Given the description of an element on the screen output the (x, y) to click on. 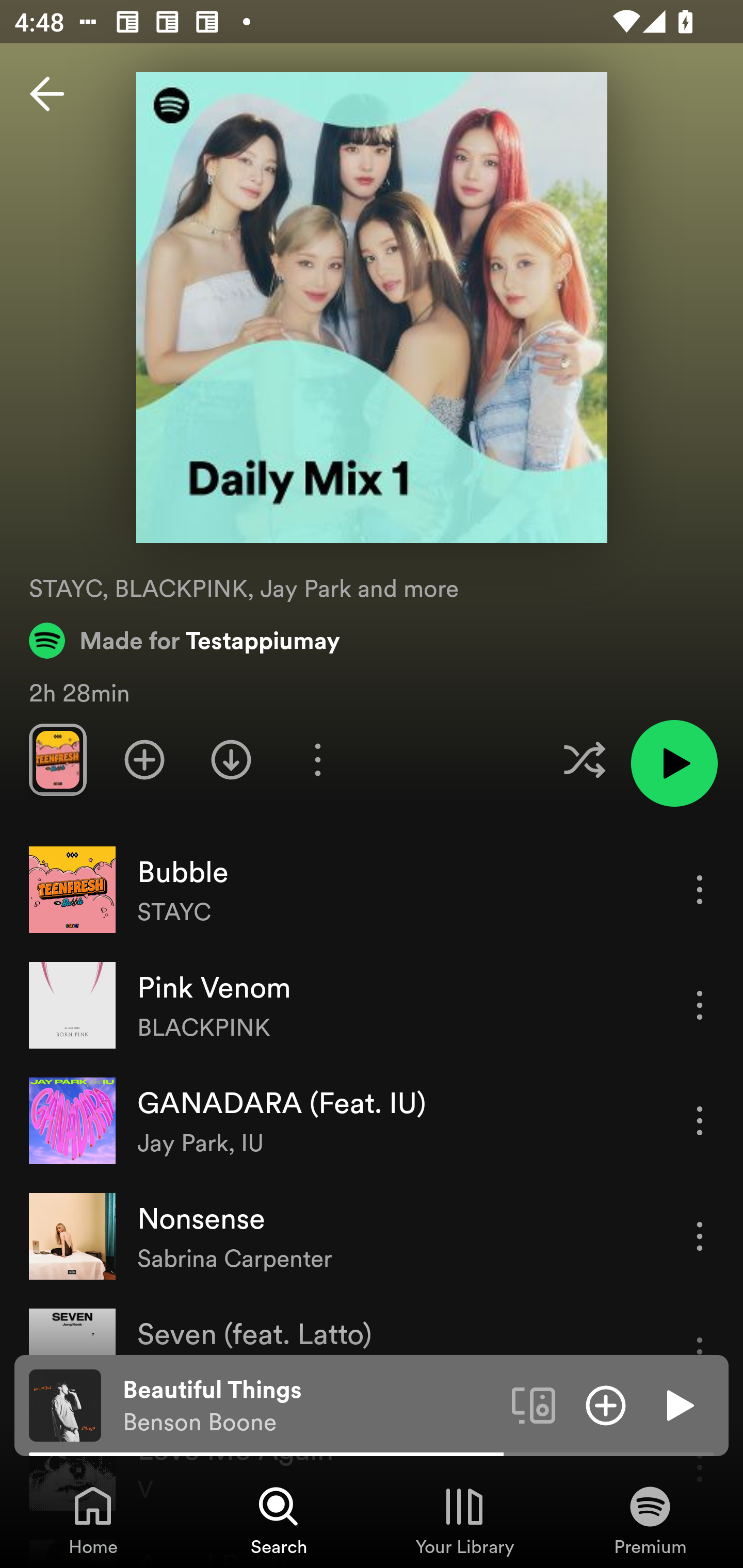
Back (46, 93)
Made for Testappiumay (184, 640)
Swipe through previews of tracks in this playlist. (57, 759)
Add playlist to Your Library (144, 759)
Download (230, 759)
More options for playlist Daily Mix 1 (317, 759)
Enable shuffle for this playlist (583, 759)
Play playlist (674, 763)
Bubble STAYC More options for song Bubble (371, 889)
More options for song Bubble (699, 889)
More options for song Pink Venom (699, 1004)
More options for song GANADARA (Feat. IU) (699, 1120)
More options for song Nonsense (699, 1236)
Beautiful Things Benson Boone (309, 1405)
The cover art of the currently playing track (64, 1404)
Connect to a device. Opens the devices menu (533, 1404)
Add item (605, 1404)
Play (677, 1404)
Home, Tab 1 of 4 Home Home (92, 1519)
Search, Tab 2 of 4 Search Search (278, 1519)
Your Library, Tab 3 of 4 Your Library Your Library (464, 1519)
Premium, Tab 4 of 4 Premium Premium (650, 1519)
